Given the description of an element on the screen output the (x, y) to click on. 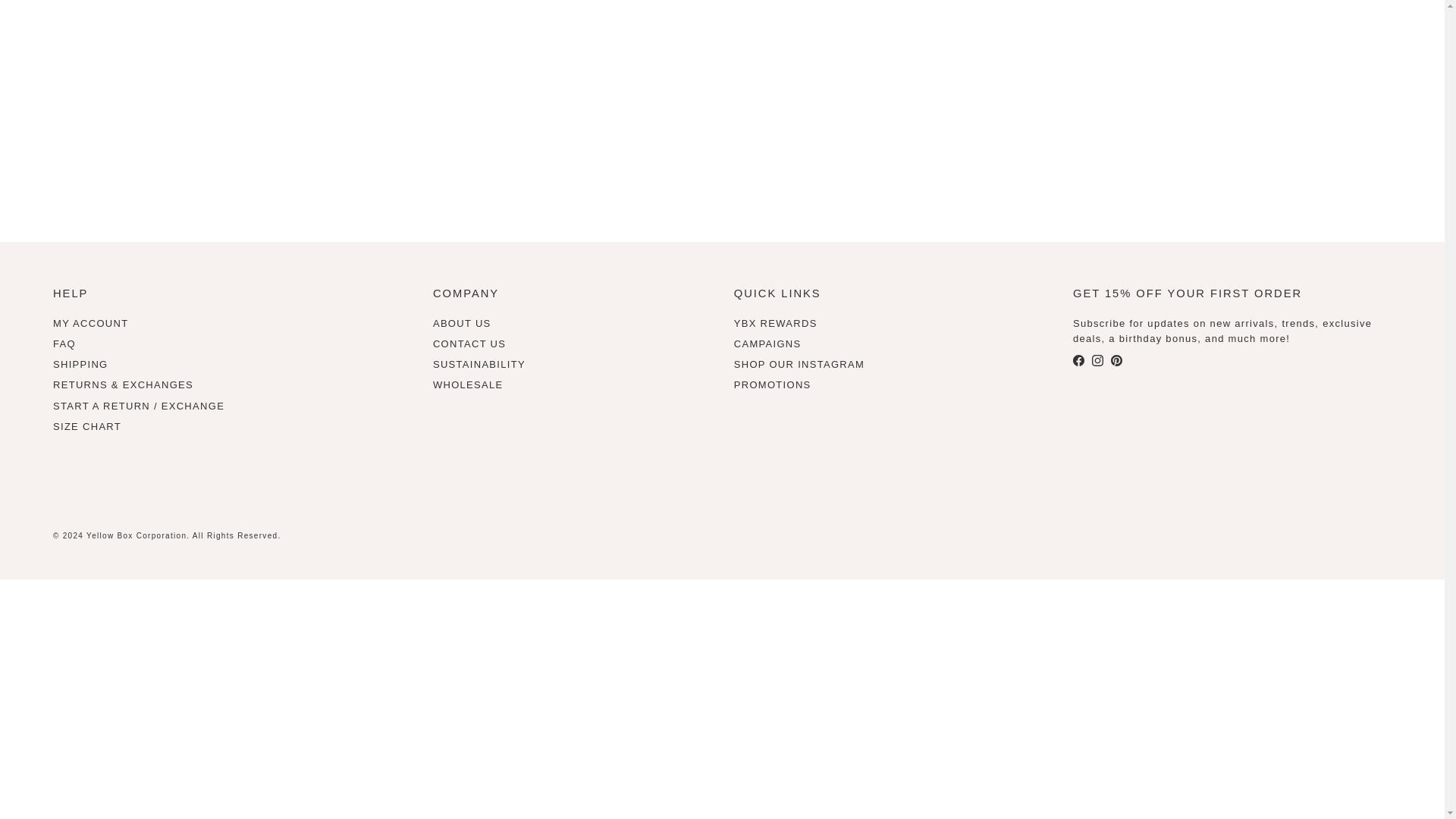
Yellow Box on Pinterest (1116, 360)
Yellow Box on Instagram (1097, 360)
Yellow Box on Facebook (1078, 360)
